Given the description of an element on the screen output the (x, y) to click on. 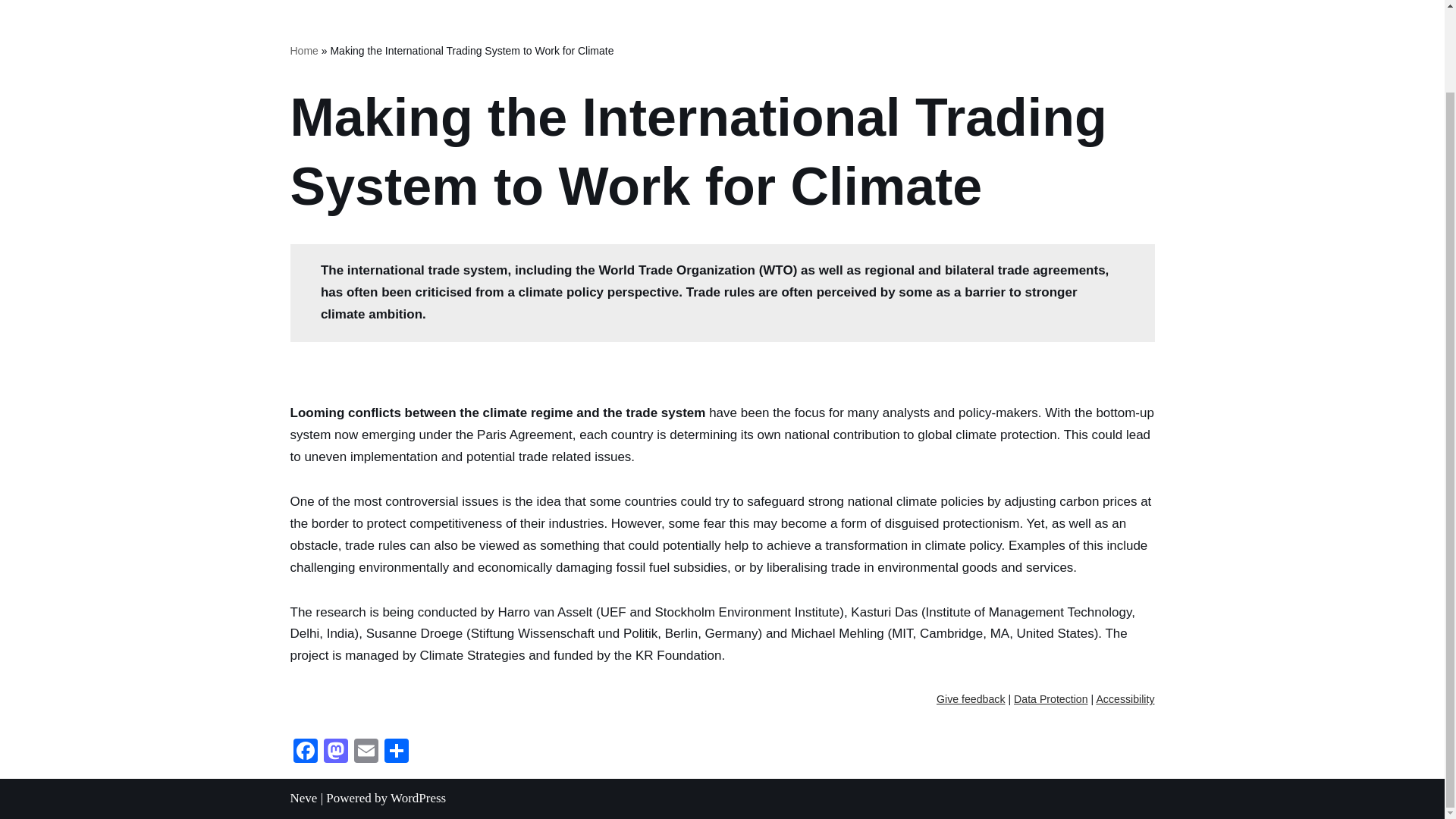
Email (365, 752)
Facebook (304, 752)
Mastodon (335, 752)
